Given the description of an element on the screen output the (x, y) to click on. 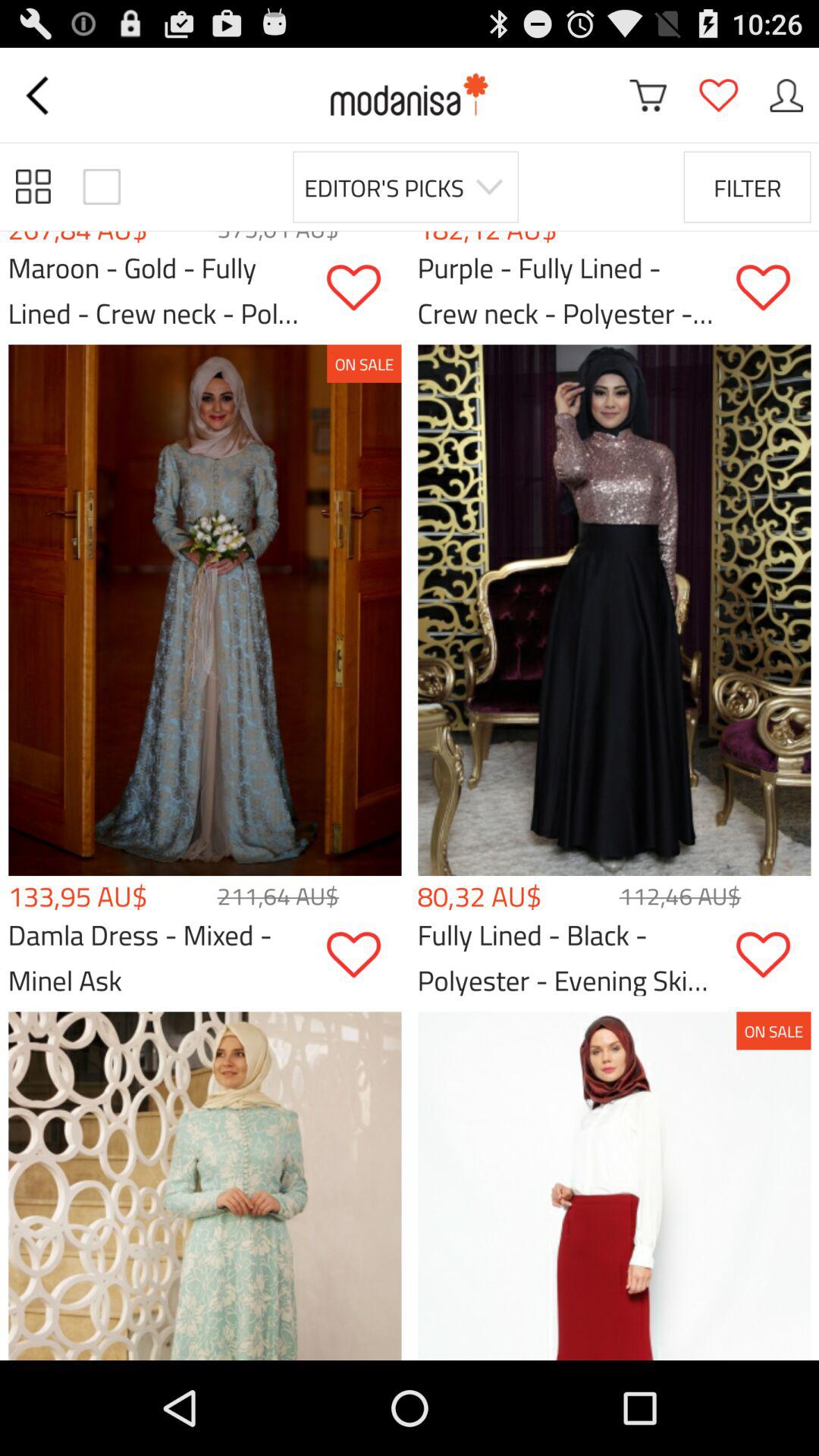
go back (39, 95)
